Given the description of an element on the screen output the (x, y) to click on. 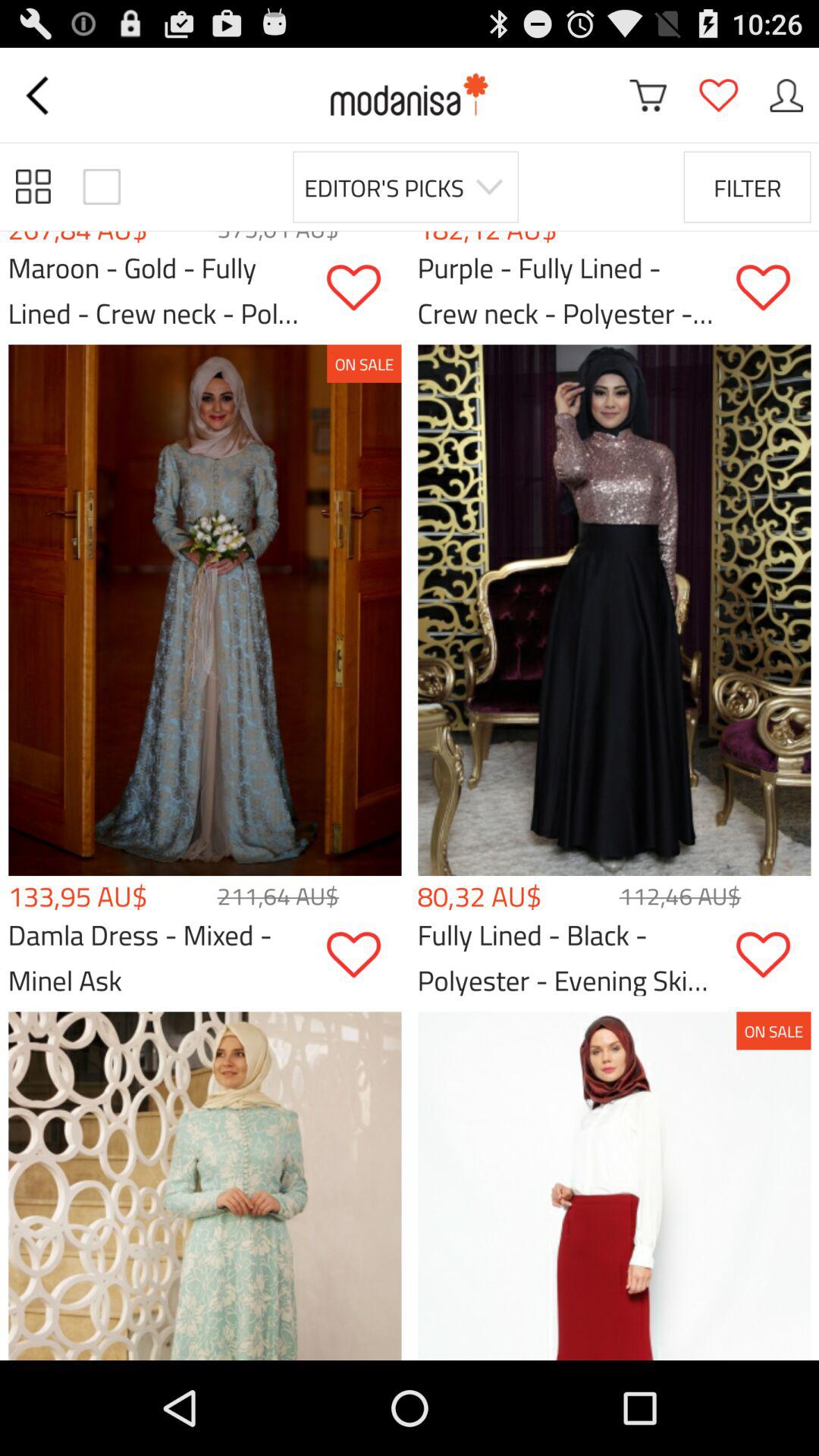
go back (39, 95)
